Given the description of an element on the screen output the (x, y) to click on. 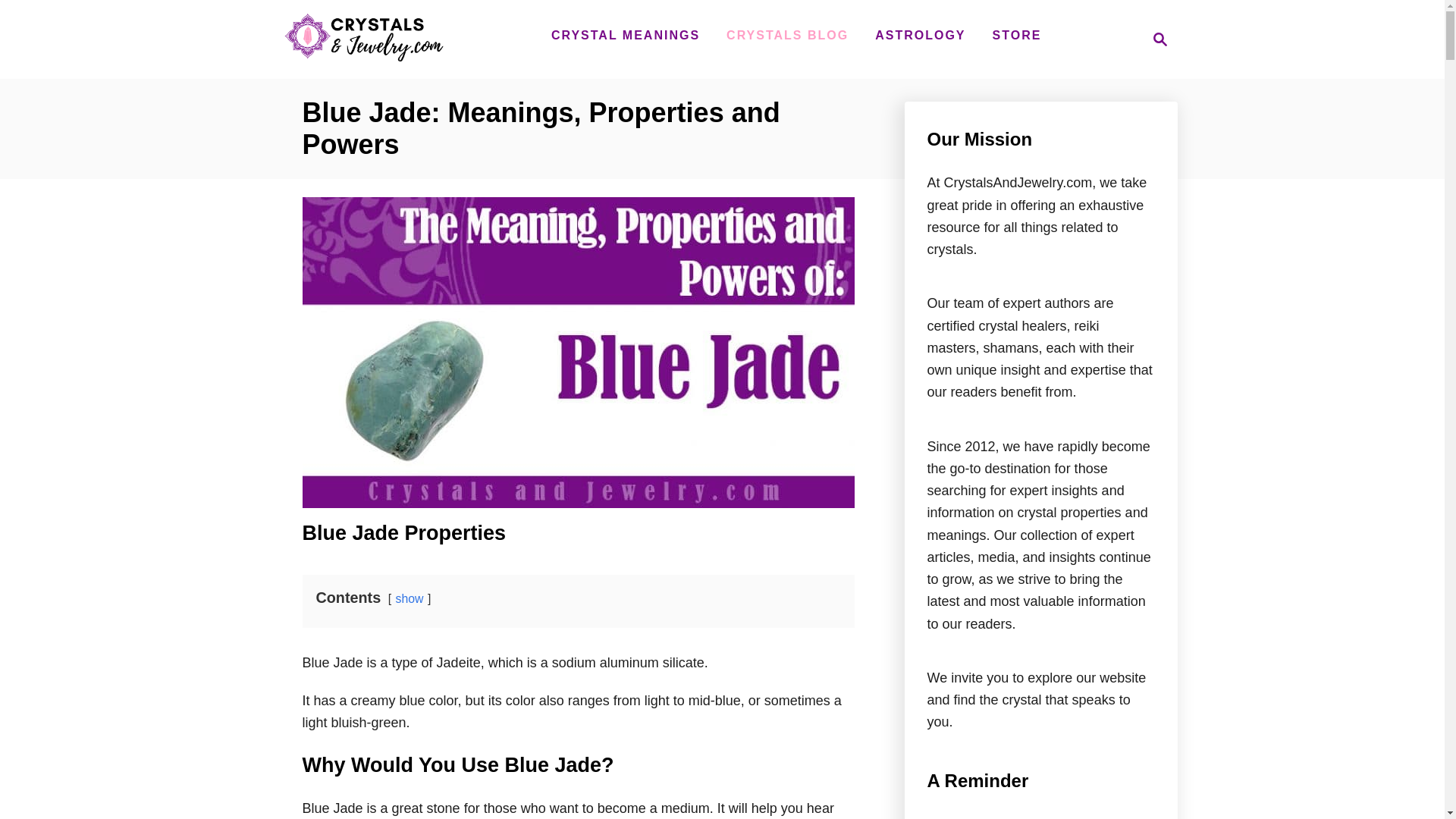
STORE (1017, 35)
Magnifying Glass (1160, 39)
CRYSTALS BLOG (787, 35)
CRYSTAL MEANINGS (625, 35)
show (409, 598)
CrystalsandJewelry.com (1155, 39)
ASTROLOGY (363, 59)
